Given the description of an element on the screen output the (x, y) to click on. 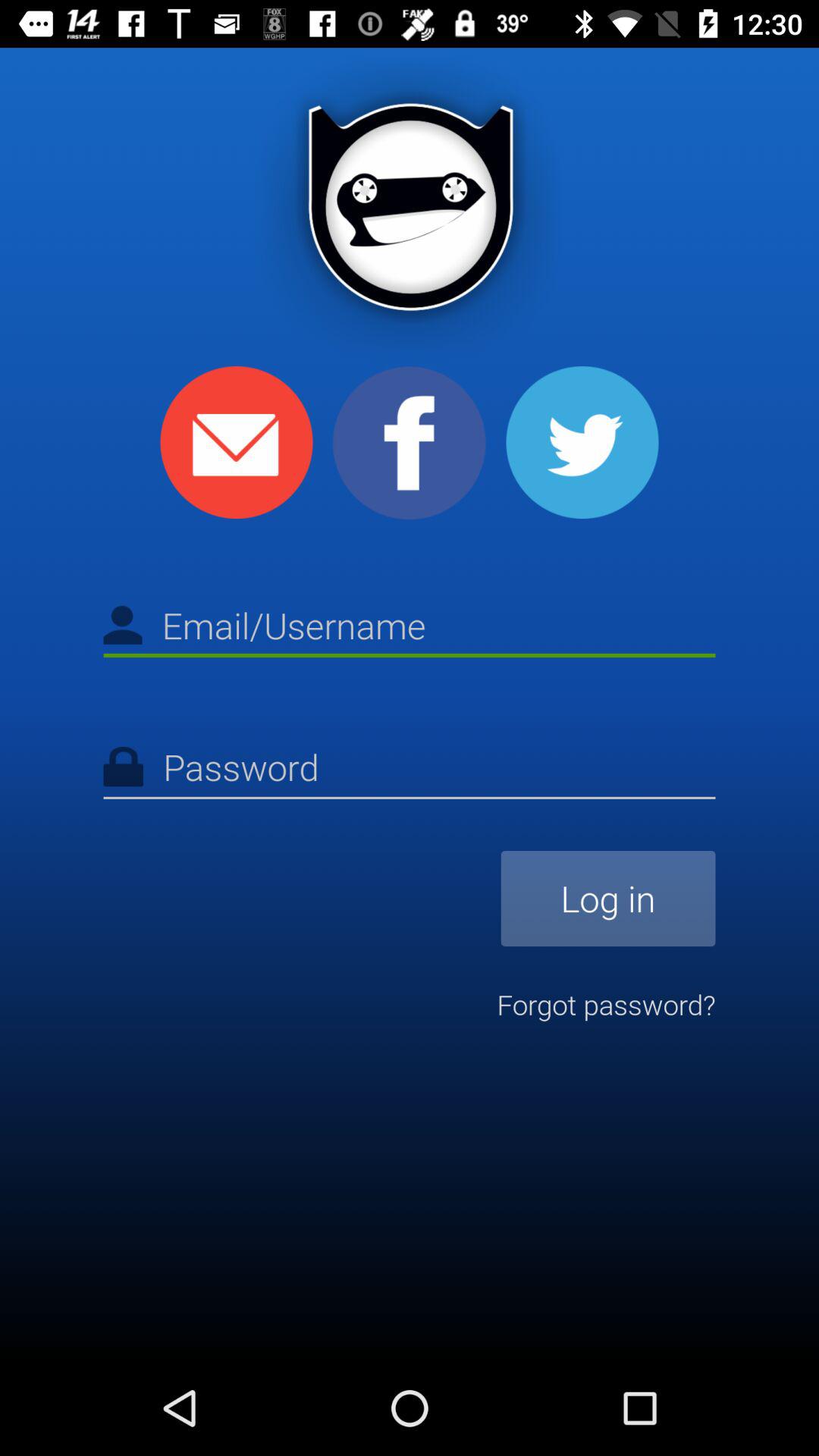
turn off item at the top left corner (236, 442)
